Given the description of an element on the screen output the (x, y) to click on. 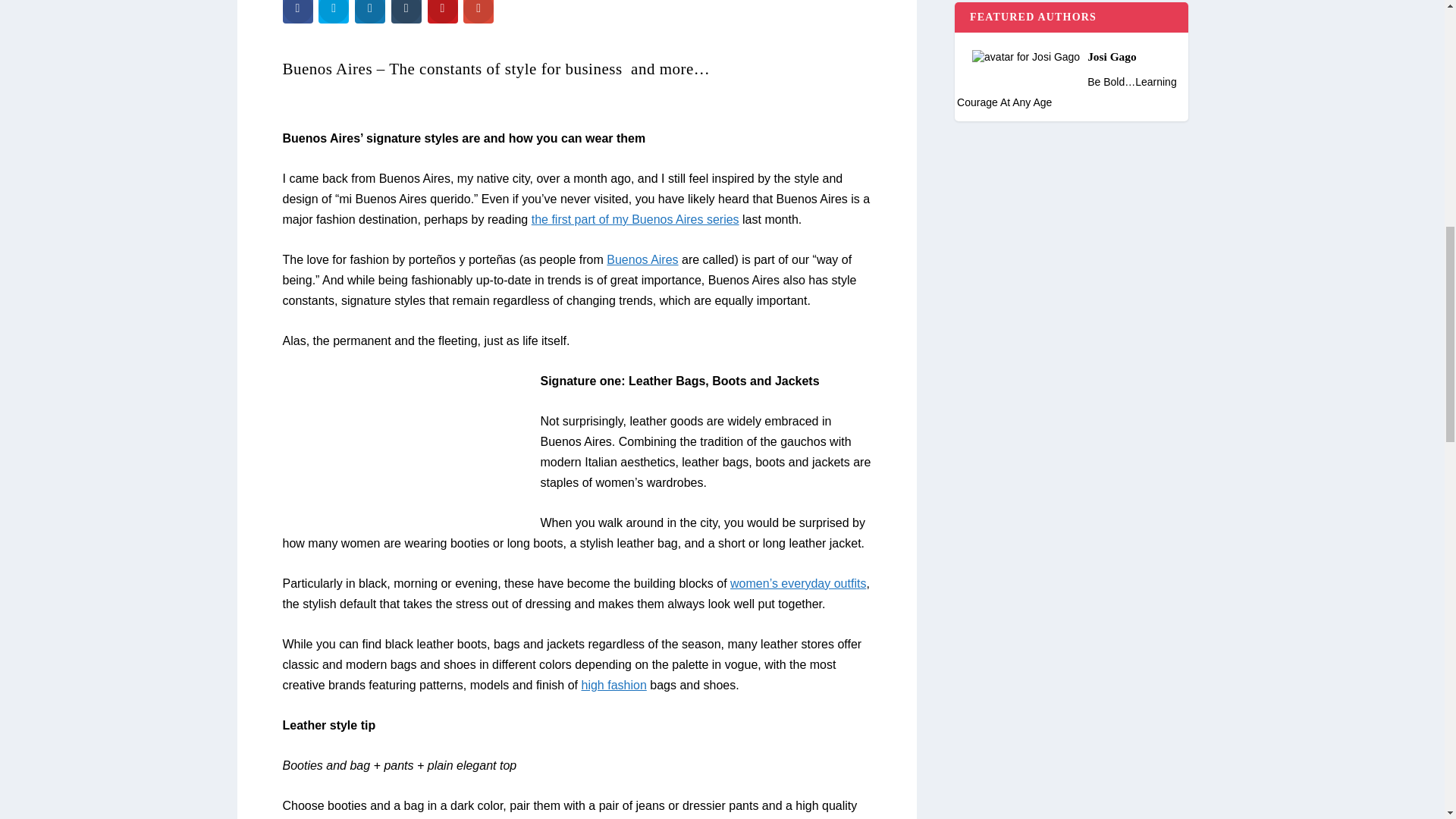
Buenos Aires Business Style Bags (405, 447)
Josi Gago (1071, 49)
